Given the description of an element on the screen output the (x, y) to click on. 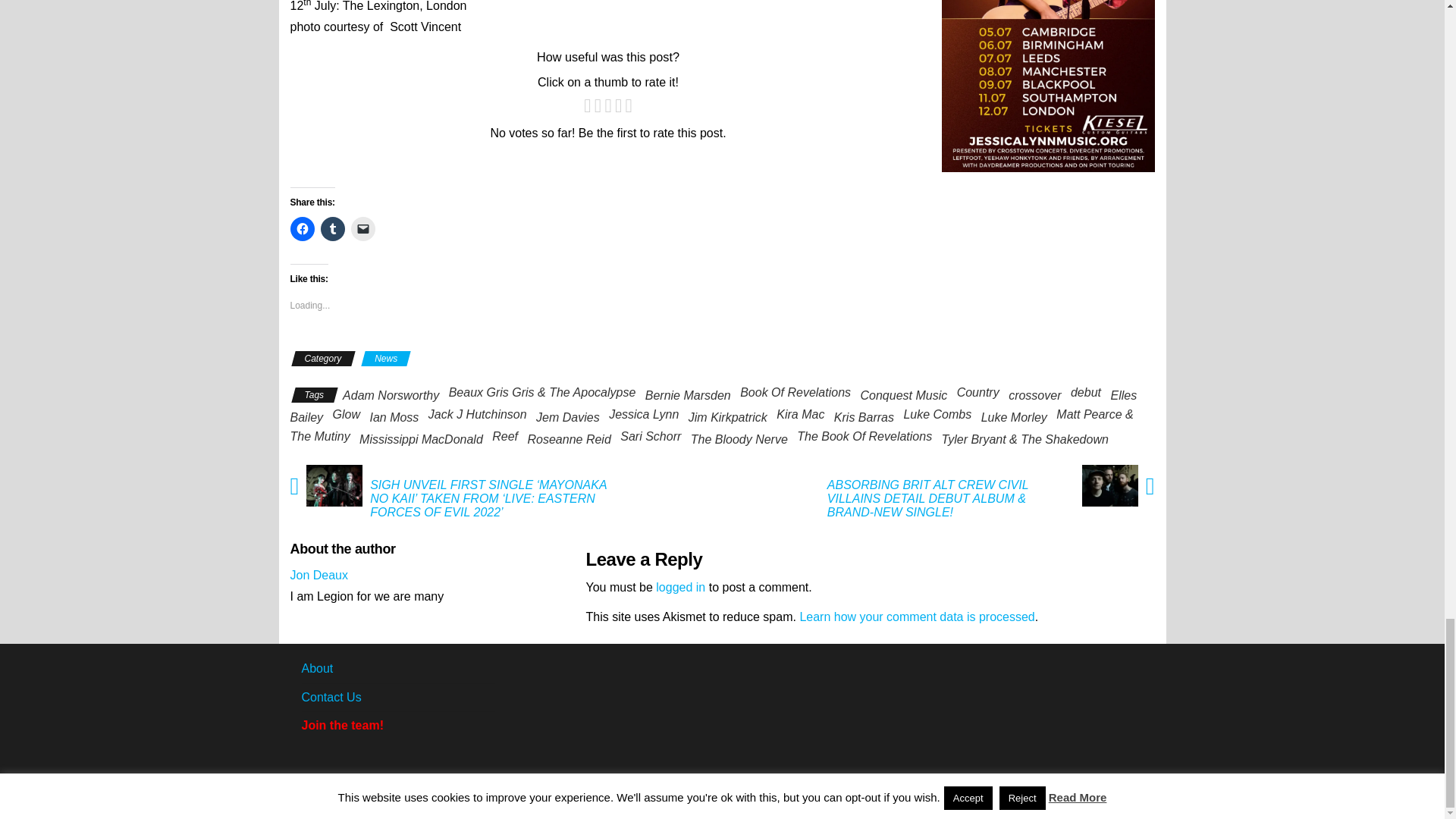
News (385, 358)
Adam Norsworthy (390, 395)
